Given the description of an element on the screen output the (x, y) to click on. 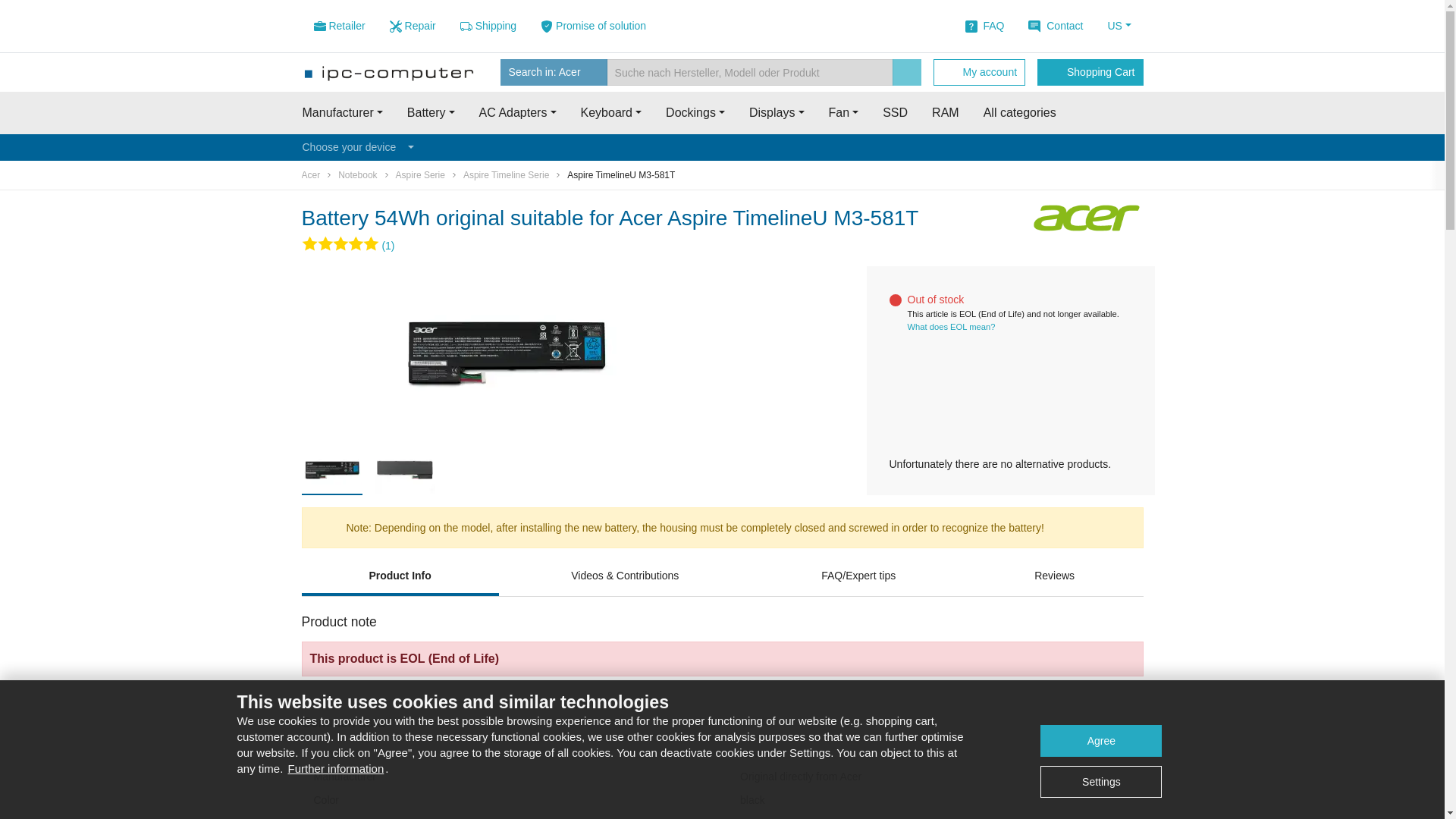
My account (979, 71)
IPC-Computer Reparatur Anmeldung (412, 25)
  FAQ (984, 25)
Kontaktieren Sie uns via email (1055, 25)
  Contact (1055, 25)
Settings (1101, 781)
IPC-Computer FAQ und Support System (984, 25)
Shipping (488, 25)
Further information (335, 766)
IPC-Computer Versand (488, 25)
